Given the description of an element on the screen output the (x, y) to click on. 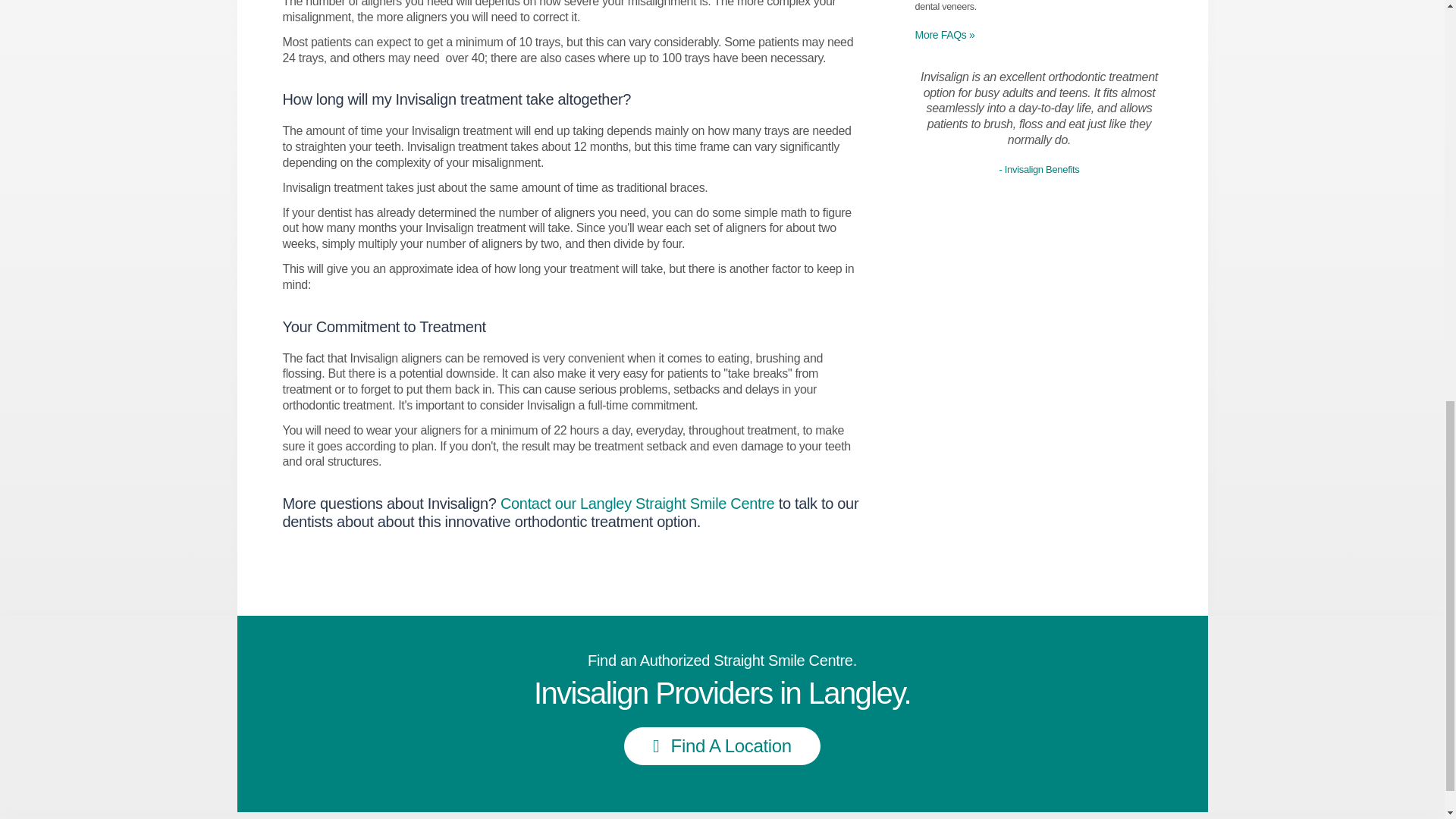
Contact our Langley Straight Smile Centre (637, 503)
Invisalign FAQs, Langley Dentist (945, 34)
Find A Location (722, 745)
Contact Langley Dentists (637, 503)
